Given the description of an element on the screen output the (x, y) to click on. 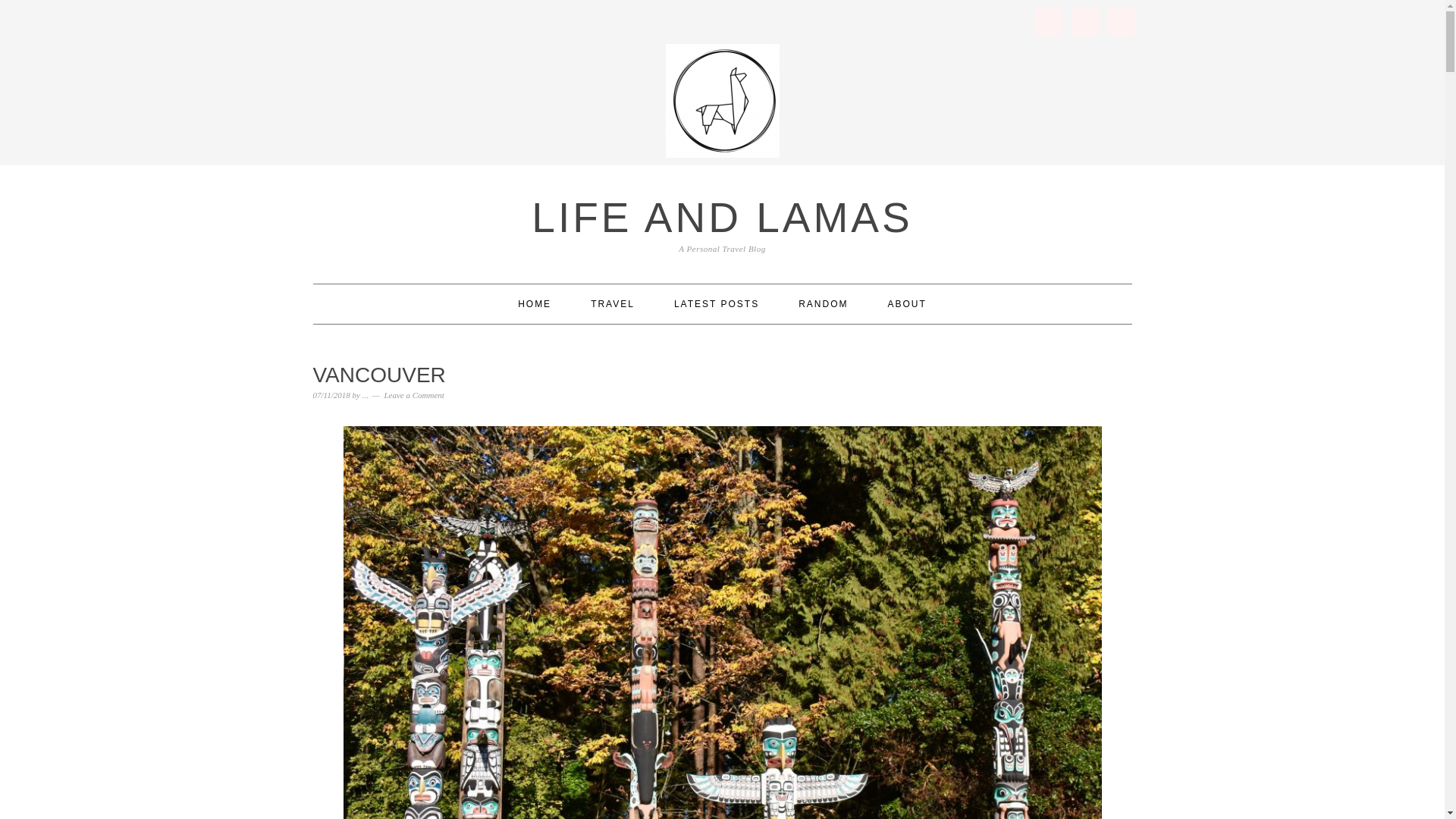
RANDOM (822, 303)
LIFE AND LAMAS (721, 217)
ABOUT (906, 303)
Leave a Comment (414, 394)
TRAVEL (612, 303)
LATEST POSTS (716, 303)
HOME (534, 303)
... (365, 394)
